Given the description of an element on the screen output the (x, y) to click on. 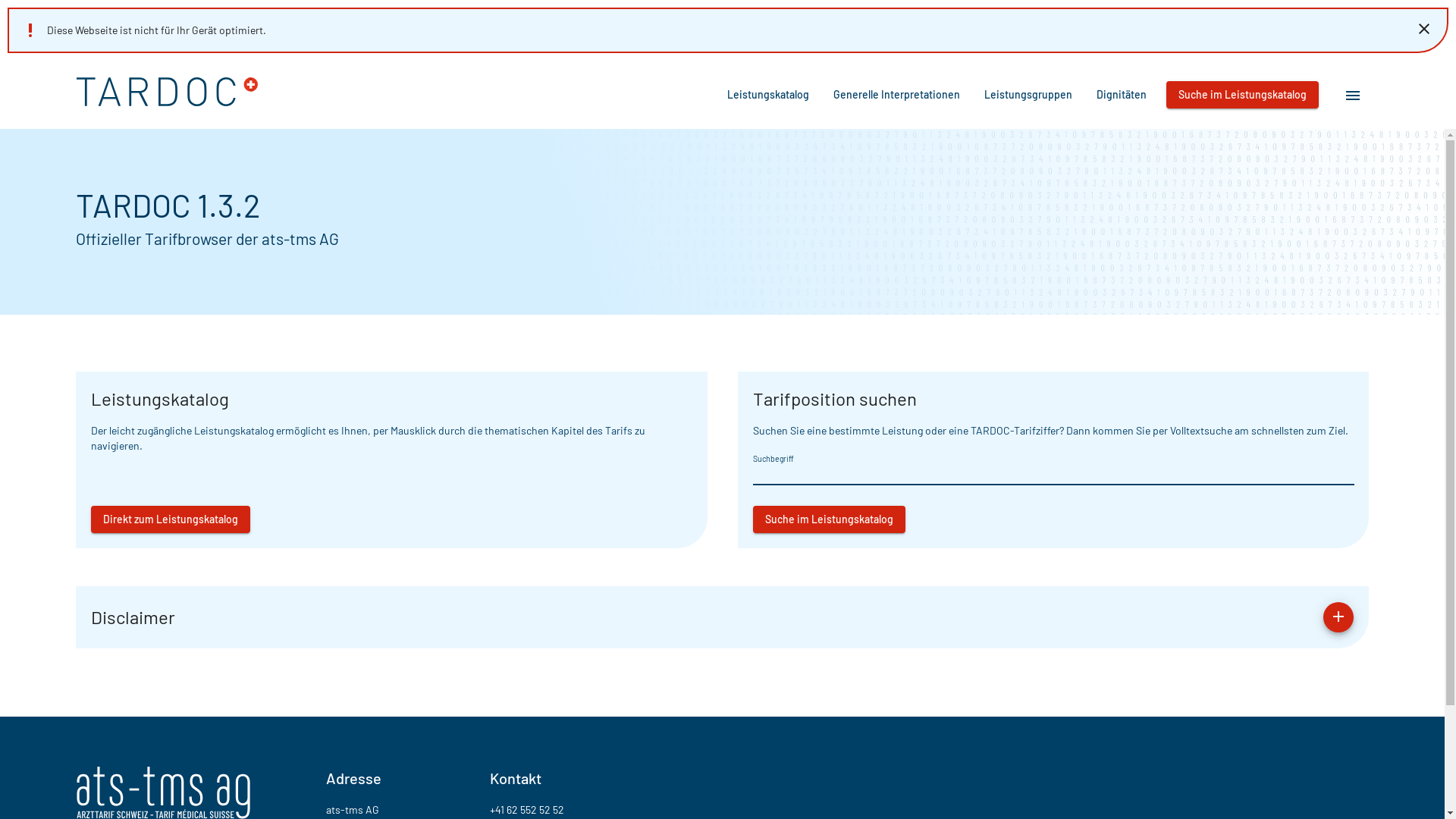
Suche im Leistungskatalog Element type: text (1242, 94)
add Element type: text (1338, 617)
+41 62 552 52 52 Element type: text (526, 808)
Suche im Leistungskatalog Element type: text (828, 518)
menu Element type: text (1352, 94)
Direkt zum Leistungskatalog Element type: text (170, 518)
Leistungsgruppen Element type: text (1028, 94)
Generelle Interpretationen Element type: text (896, 94)
close Element type: text (1423, 27)
Leistungskatalog Element type: text (768, 94)
